Given the description of an element on the screen output the (x, y) to click on. 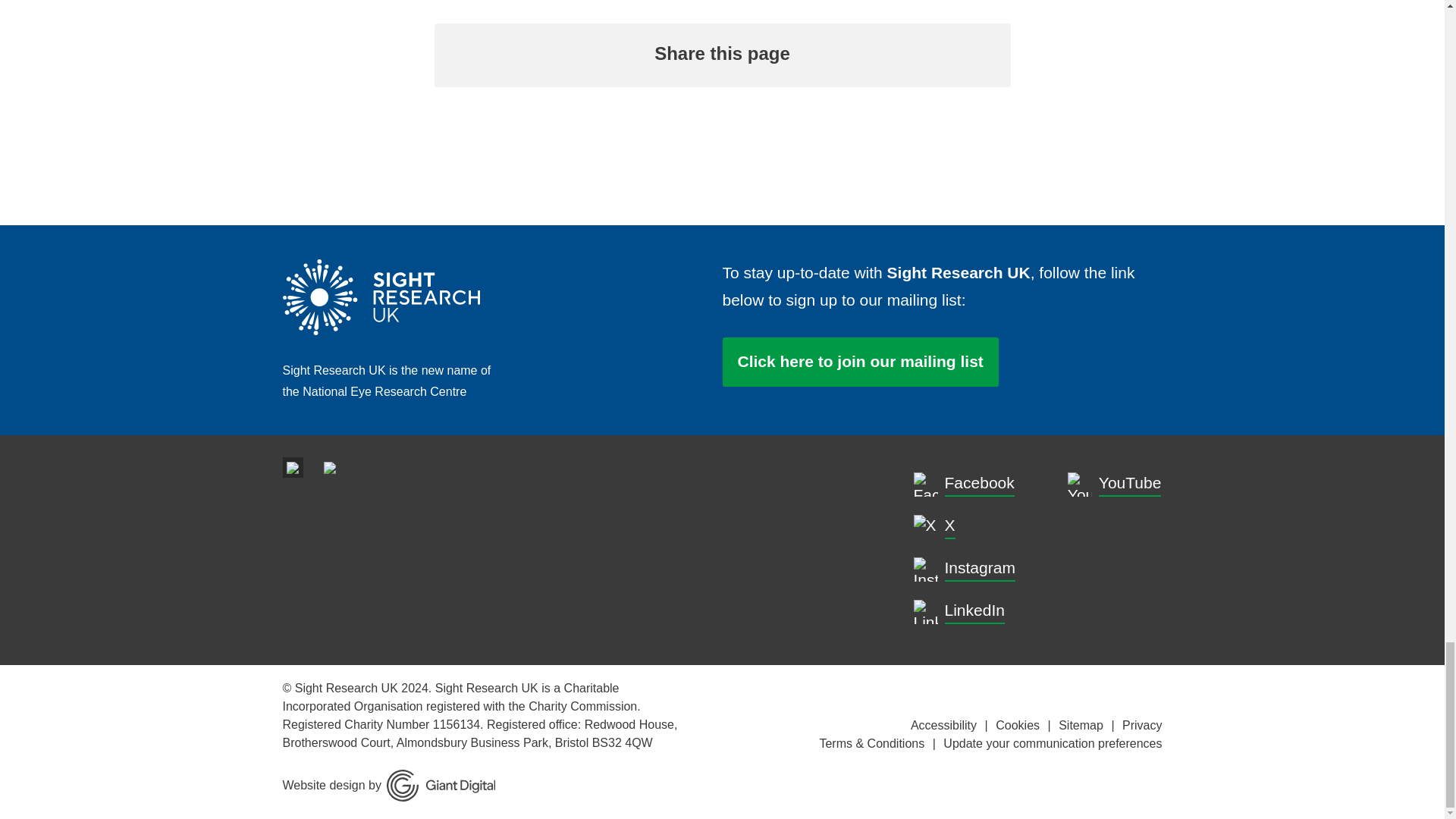
Sight Research UK on LinkedIn (990, 611)
Accessibility (943, 725)
Sight Research UK on Facebook (990, 484)
Sitemap (1080, 725)
Sight Research UK on X (990, 526)
Cookies (1017, 725)
Sight Research UK on YouTube (1114, 484)
Sign up (859, 361)
Privacy (1141, 725)
Sight Research UK on Instagram (964, 569)
